Given the description of an element on the screen output the (x, y) to click on. 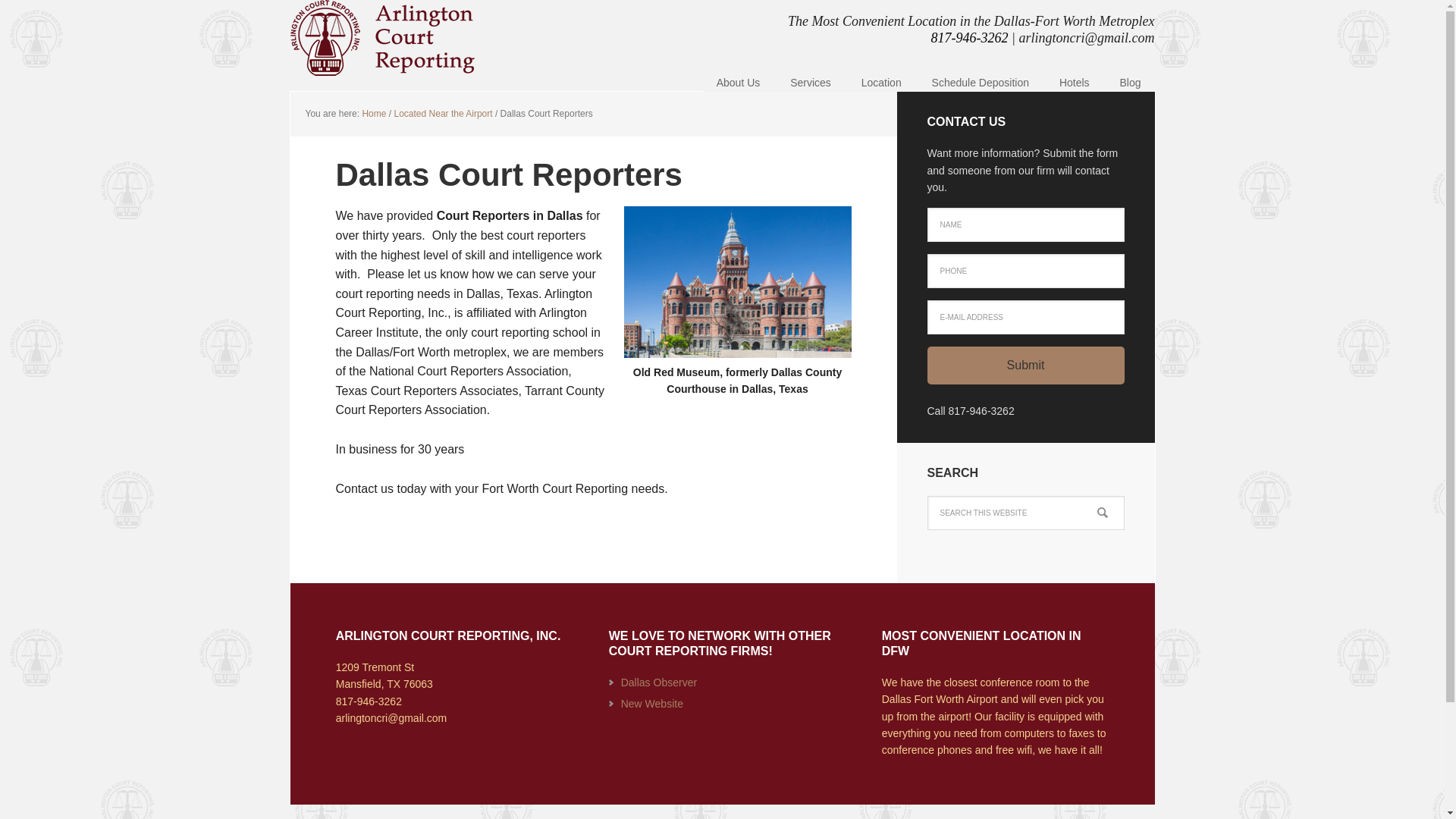
Submit (1025, 365)
Arlington Court Reporting (387, 38)
Submit (1025, 365)
Home (373, 113)
817-946-3262 (368, 701)
New Website (651, 703)
Dallas Observer (659, 682)
